Given the description of an element on the screen output the (x, y) to click on. 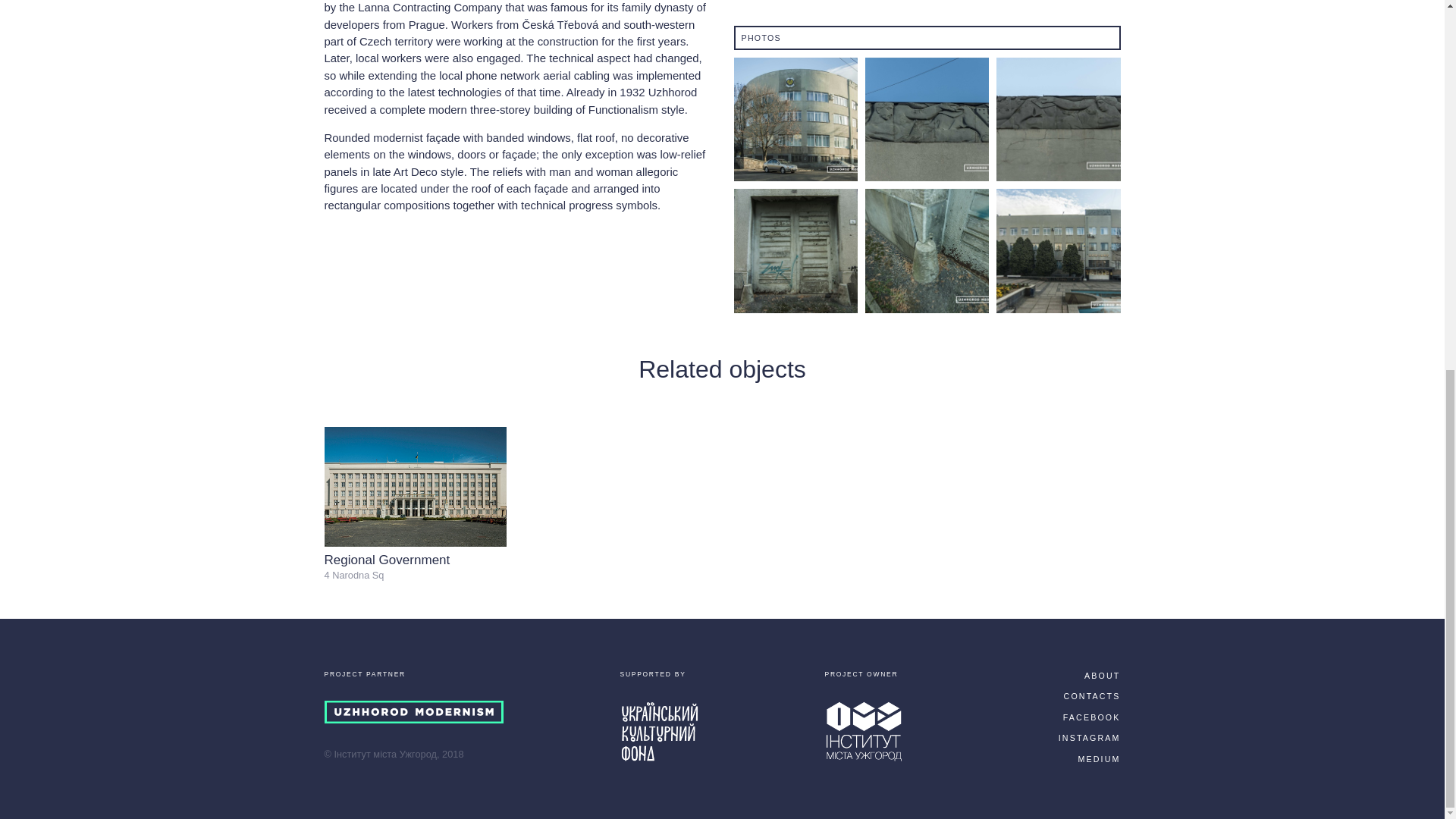
CONTACTS (1092, 696)
ABOUT (1101, 675)
INSTAGRAM (1089, 737)
MEDIUM (1098, 758)
FACEBOOK (1091, 716)
Regional Government (386, 559)
